Given the description of an element on the screen output the (x, y) to click on. 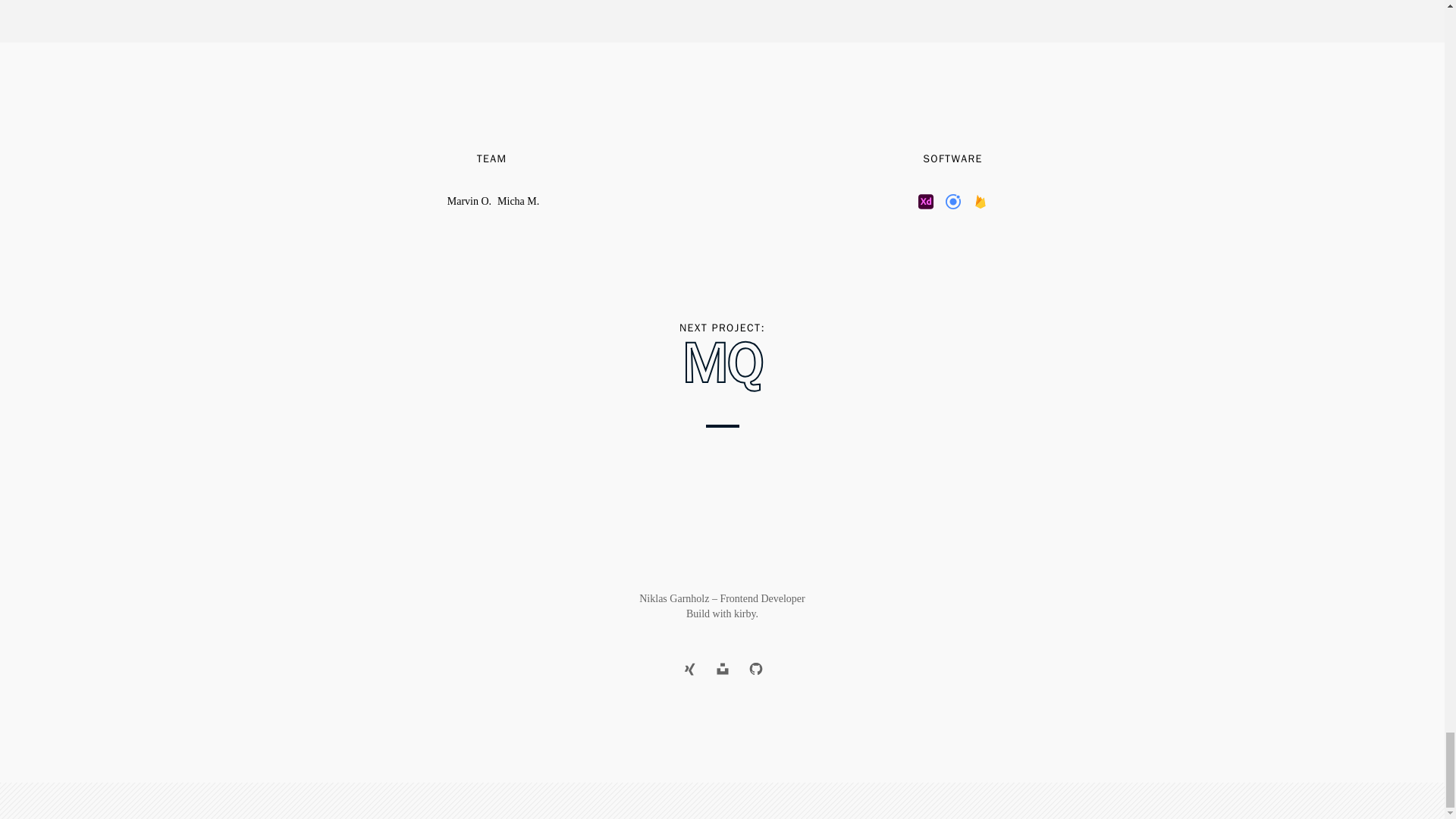
Go to Github (754, 668)
Get kirby (744, 613)
kirby (721, 363)
Micha M. (744, 613)
Go to Unsplash (517, 201)
Marvin O. (721, 668)
Go to Xing (469, 201)
Next Project: MQ (687, 668)
